Given the description of an element on the screen output the (x, y) to click on. 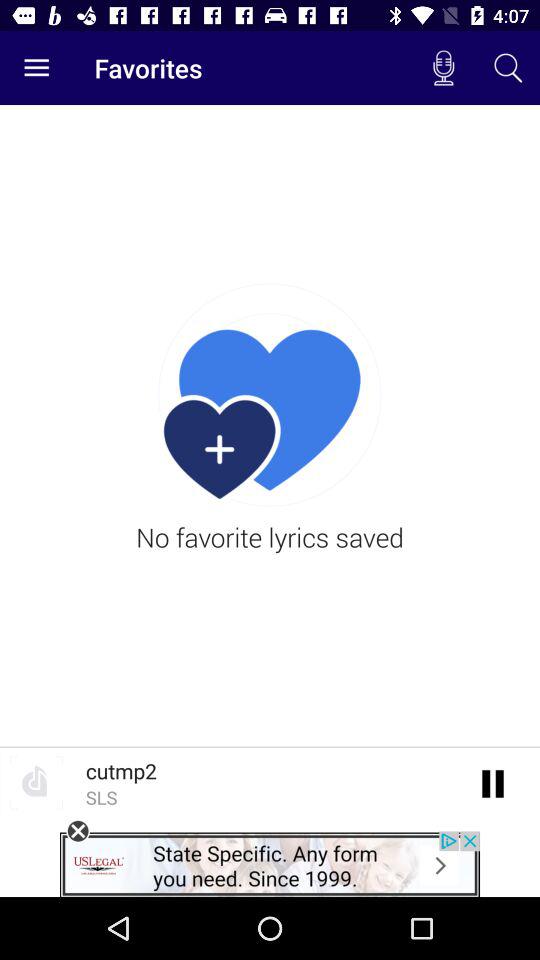
pause (493, 782)
